Given the description of an element on the screen output the (x, y) to click on. 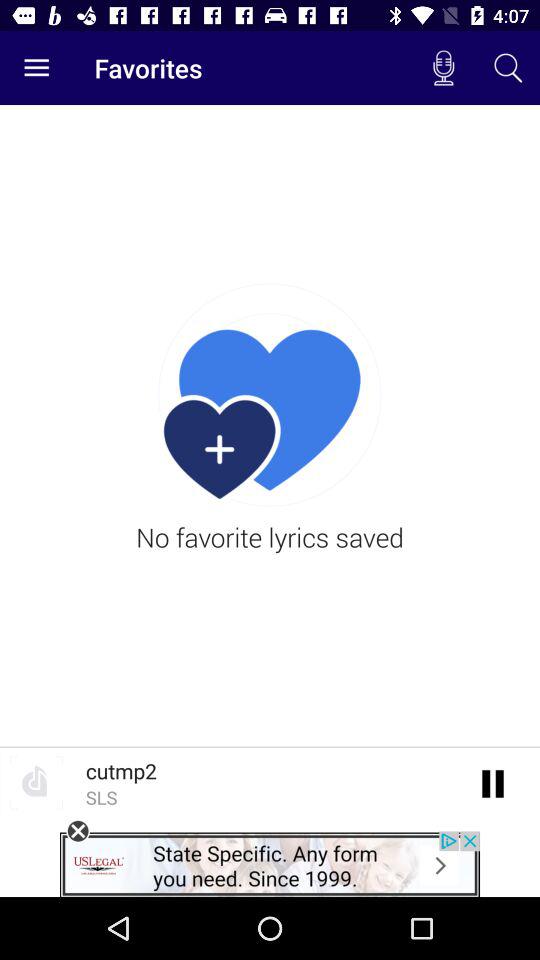
pause (493, 782)
